Given the description of an element on the screen output the (x, y) to click on. 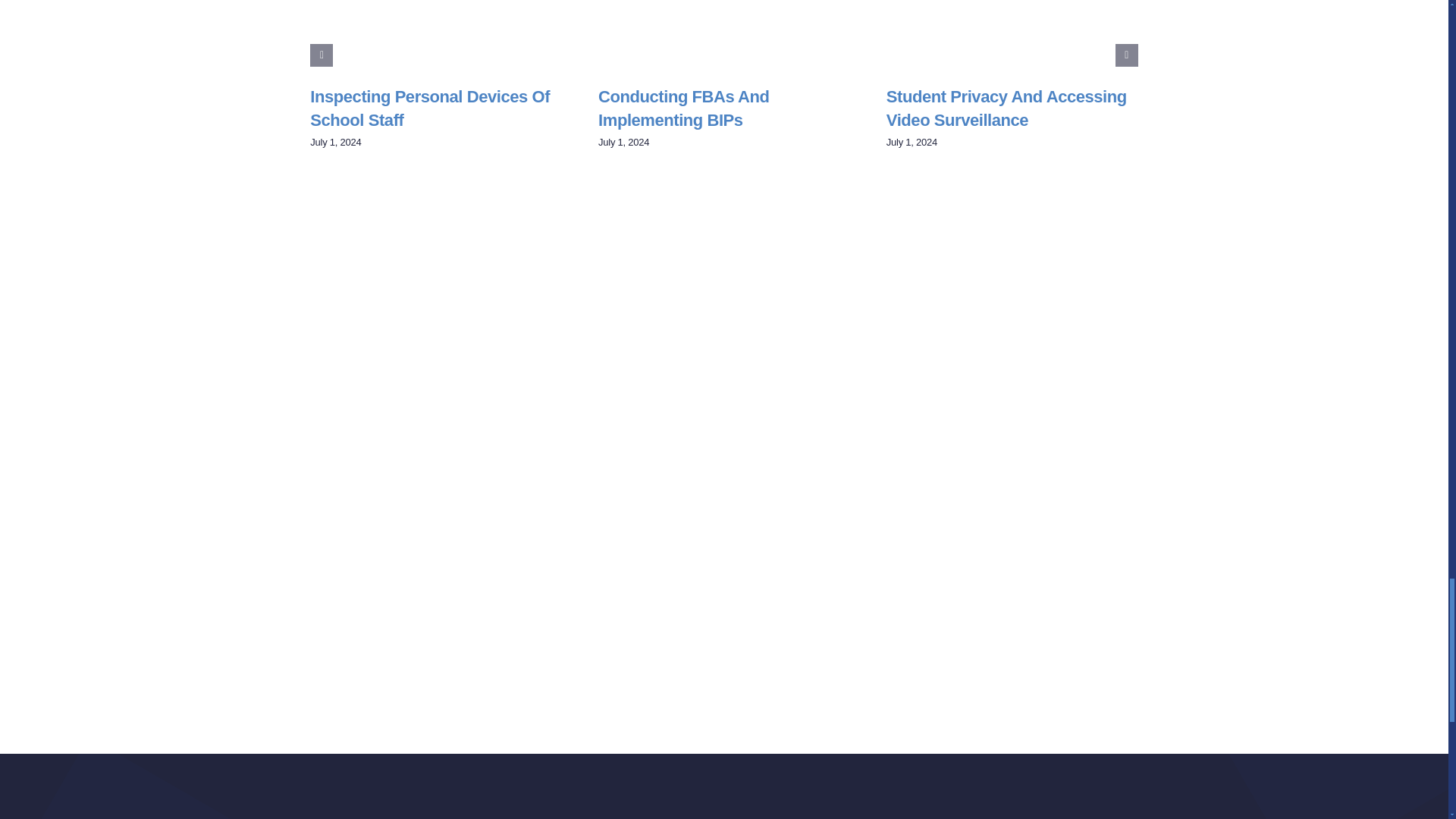
Inspecting Personal Devices of School Staff (430, 107)
Conducting FBAs and Implementing BIPs (683, 107)
Student Privacy and Accessing Video Surveillance (1006, 107)
